Given the description of an element on the screen output the (x, y) to click on. 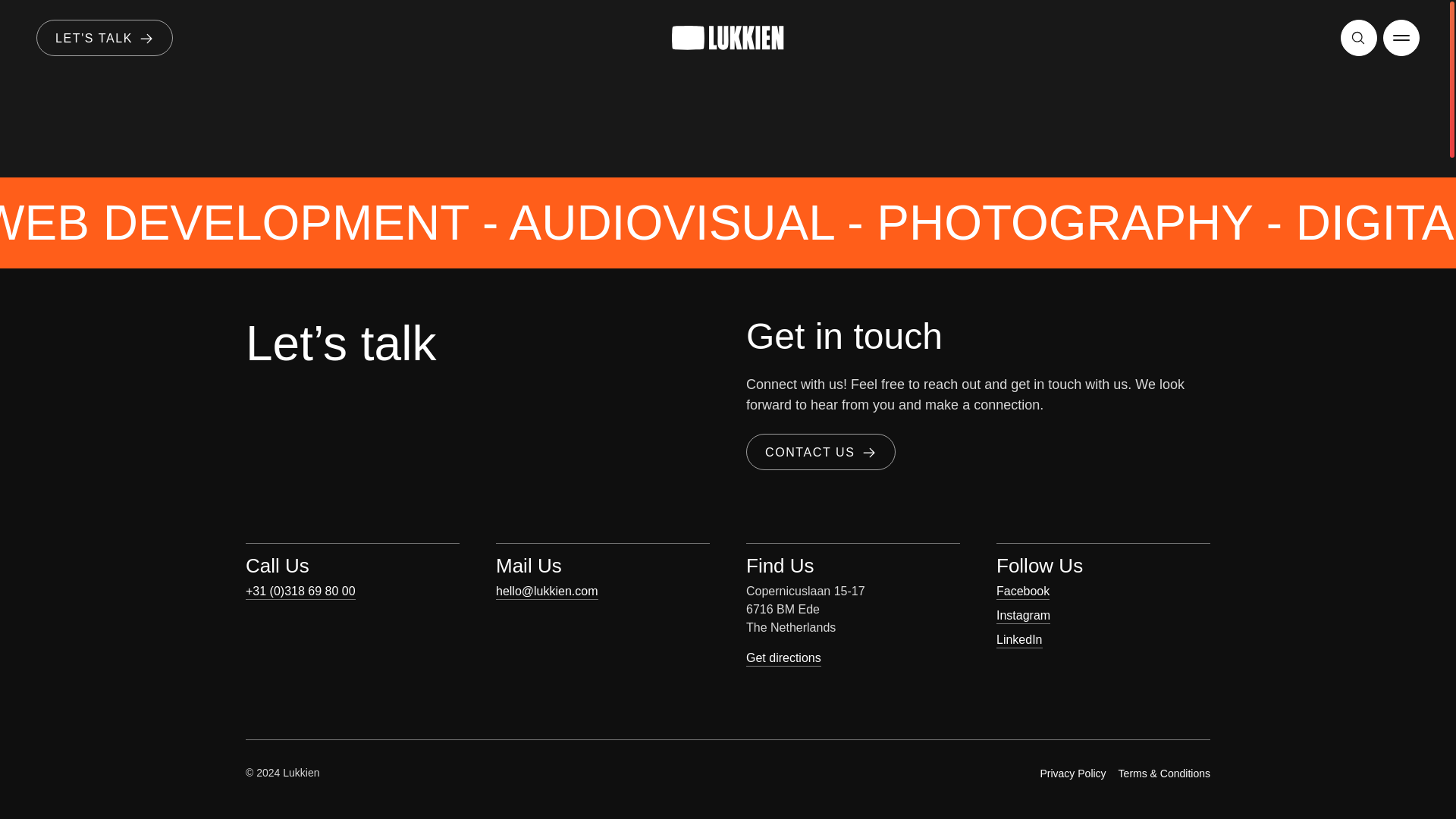
Privacy Policy (1072, 773)
contact us (820, 452)
